Given the description of an element on the screen output the (x, y) to click on. 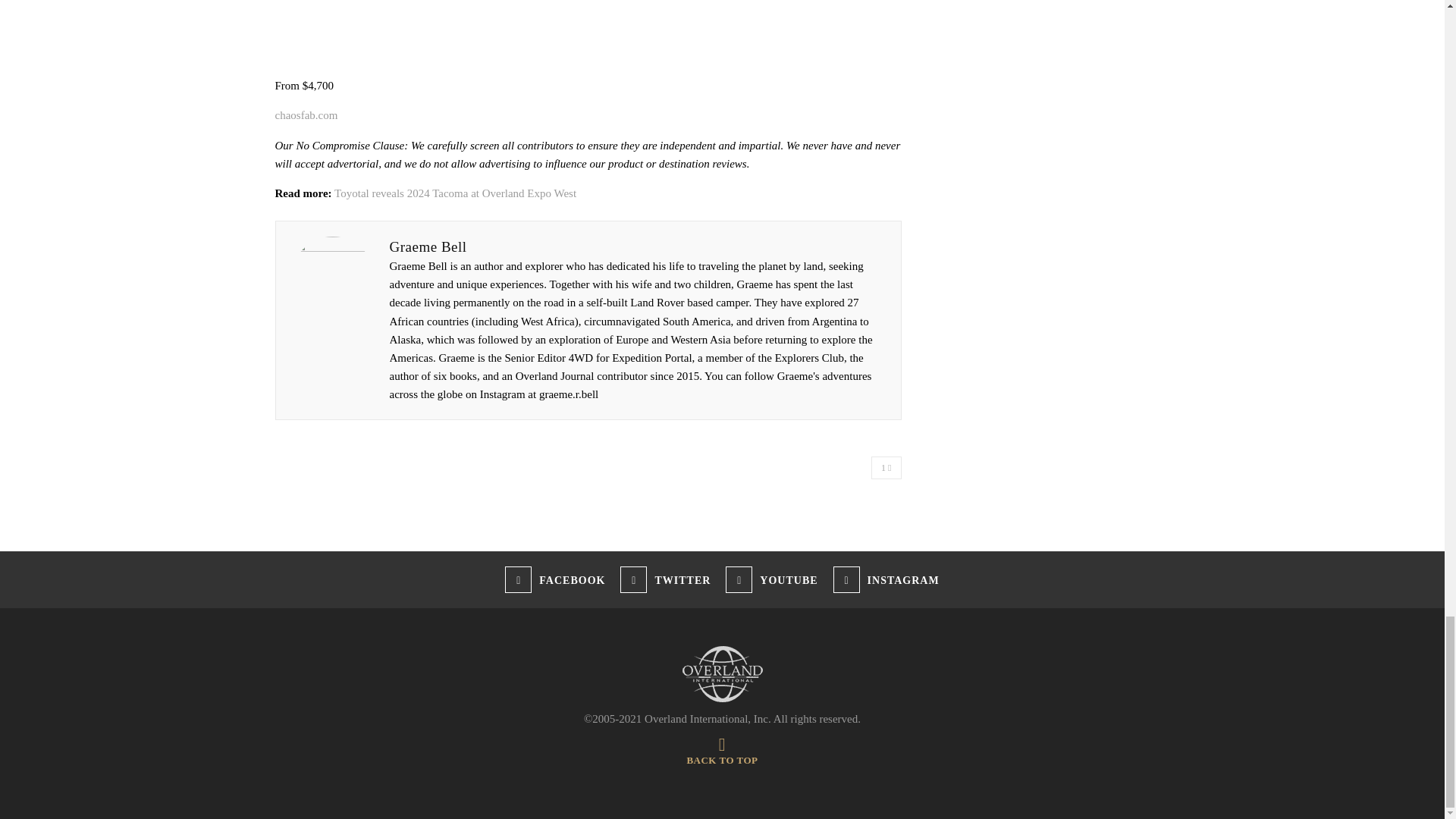
Posts by Graeme Bell (428, 246)
Expedition Portal (722, 673)
Like (885, 467)
BACK TO TOP (721, 753)
